Given the description of an element on the screen output the (x, y) to click on. 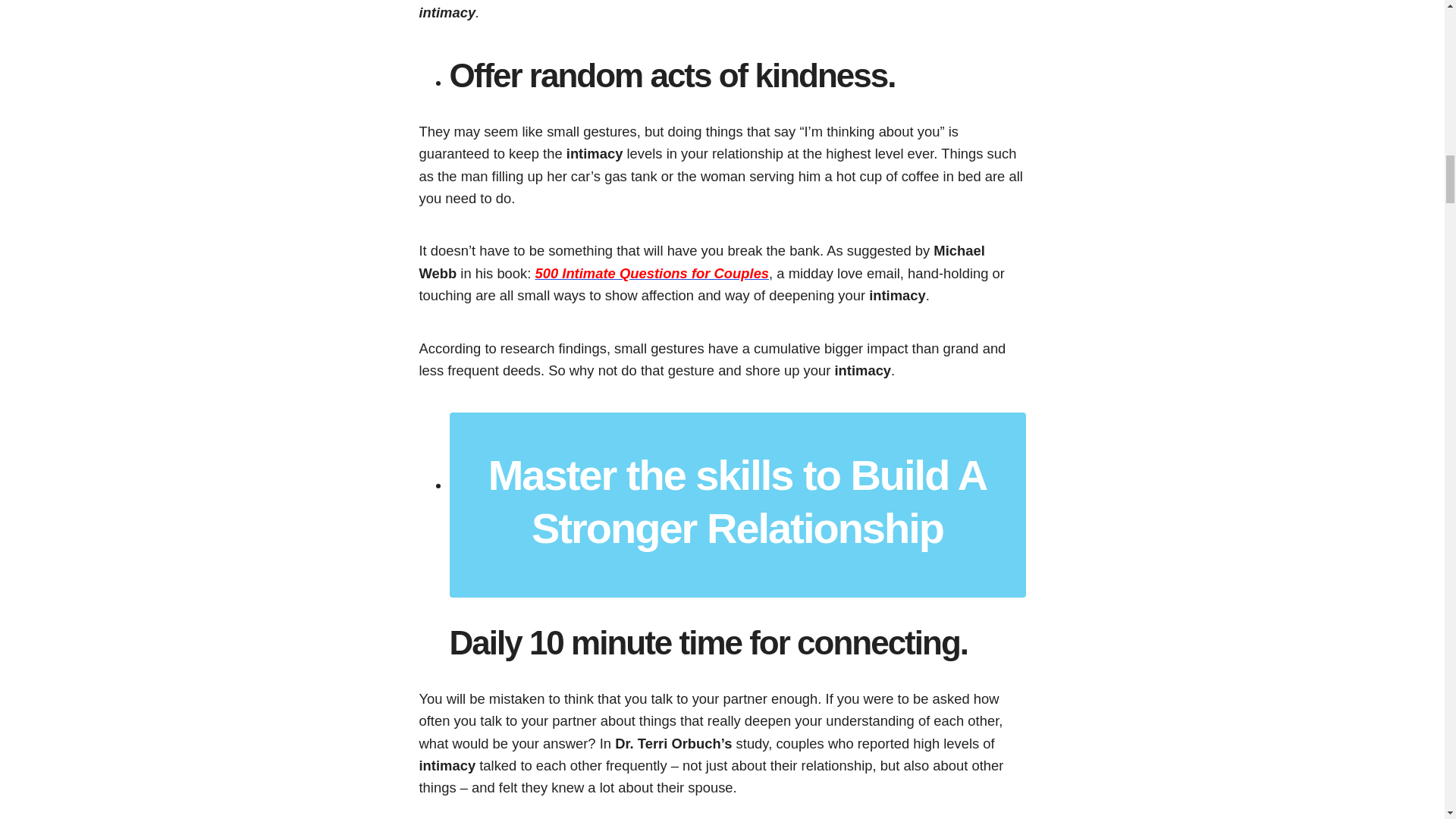
500 Intimate Questions for Couples (651, 273)
